Given the description of an element on the screen output the (x, y) to click on. 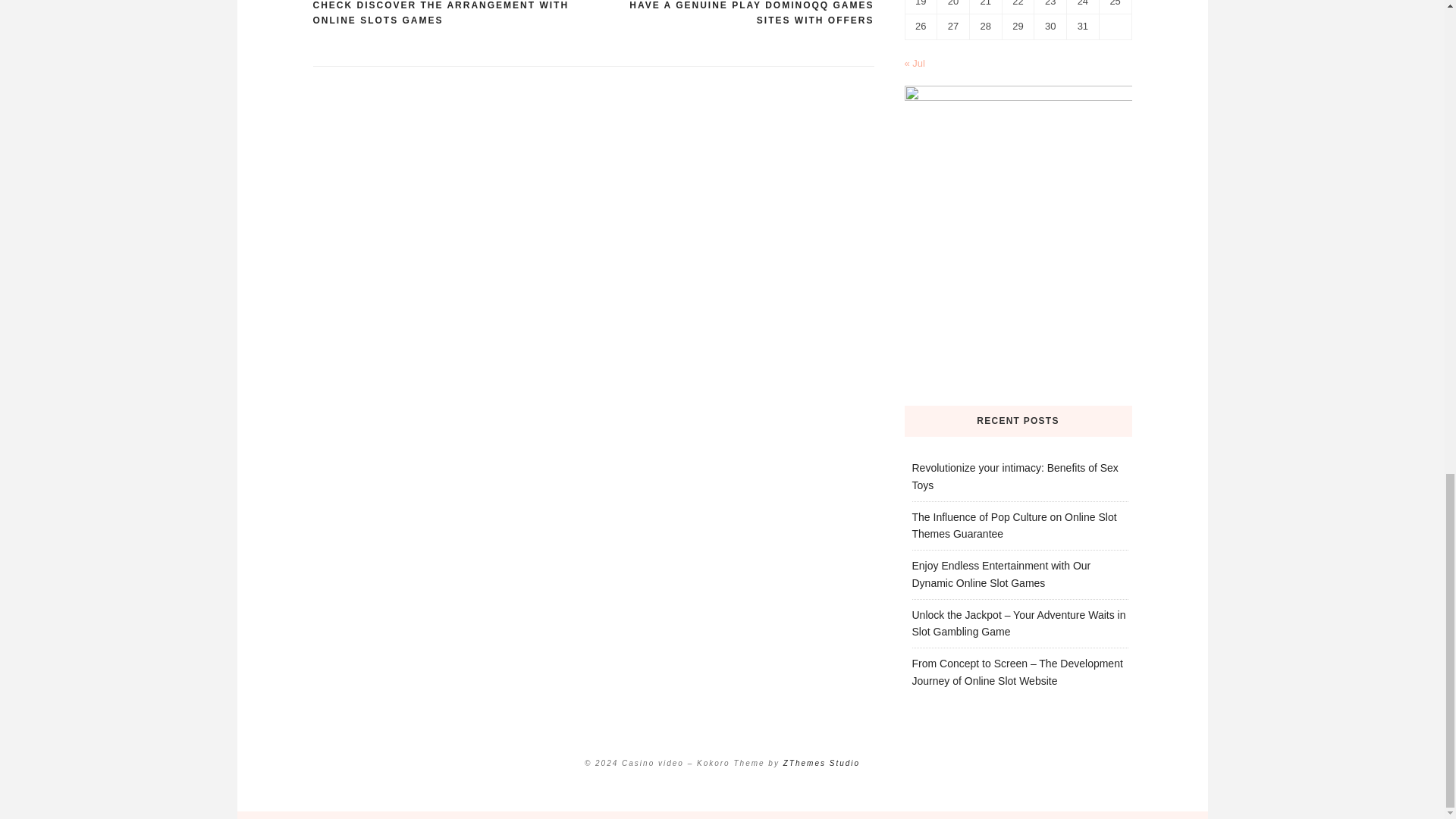
HAVE A GENUINE PLAY DOMINOQQ GAMES SITES WITH OFFERS (732, 13)
ZThemes Studio (821, 763)
CHECK DISCOVER THE ARRANGEMENT WITH ONLINE SLOTS GAMES (452, 13)
Revolutionize your intimacy: Benefits of Sex Toys (1014, 476)
The Influence of Pop Culture on Online Slot Themes Guarantee (1013, 525)
